Given the description of an element on the screen output the (x, y) to click on. 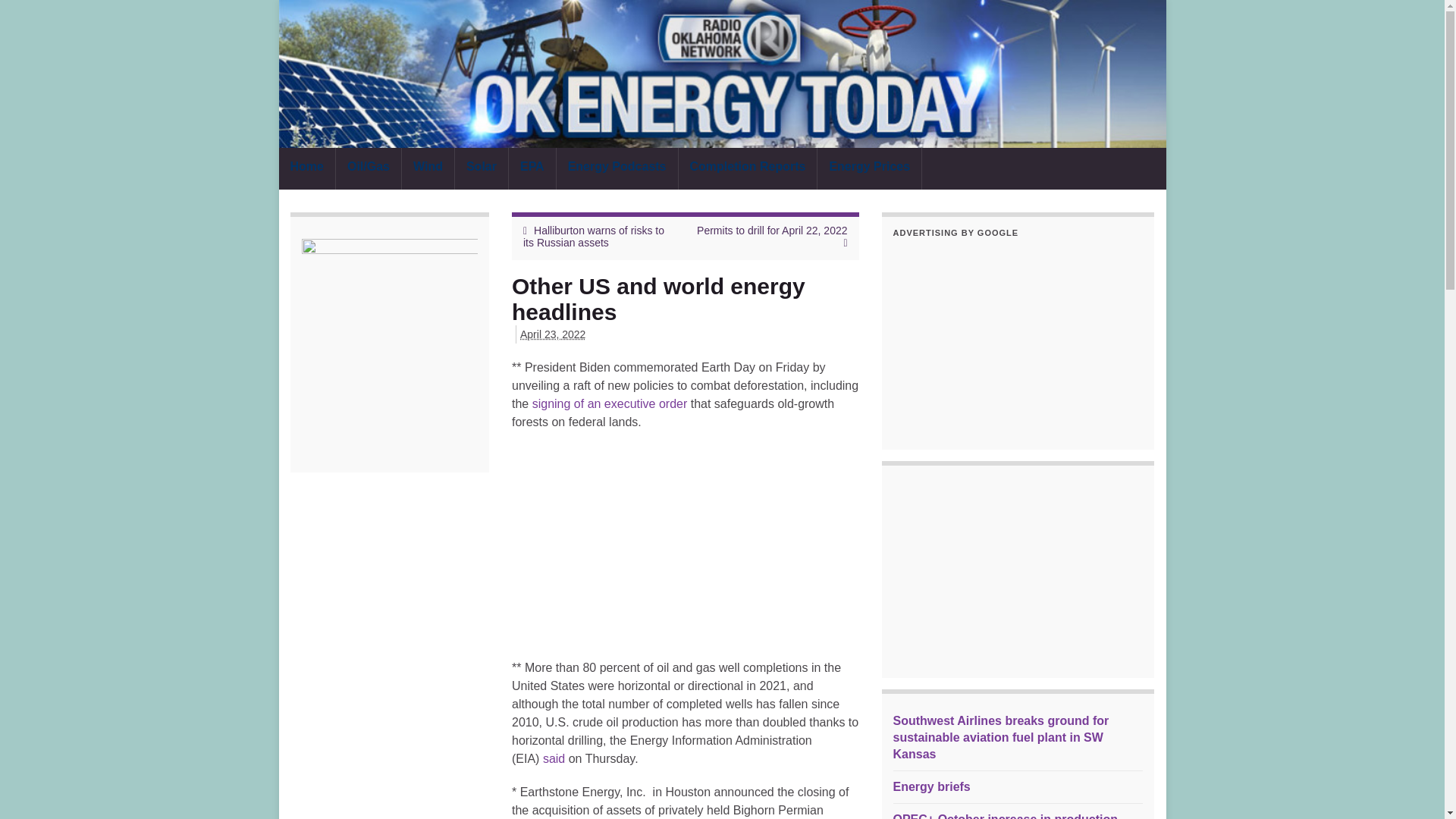
EPA (532, 168)
Wind (427, 168)
Energy Podcasts (617, 168)
Go back to the front page (722, 74)
Solar (481, 168)
Permits to drill for April 22, 2022 (772, 230)
Home (306, 168)
2022-04-23T05:37:15-05:00 (552, 334)
said (553, 758)
